Given the description of an element on the screen output the (x, y) to click on. 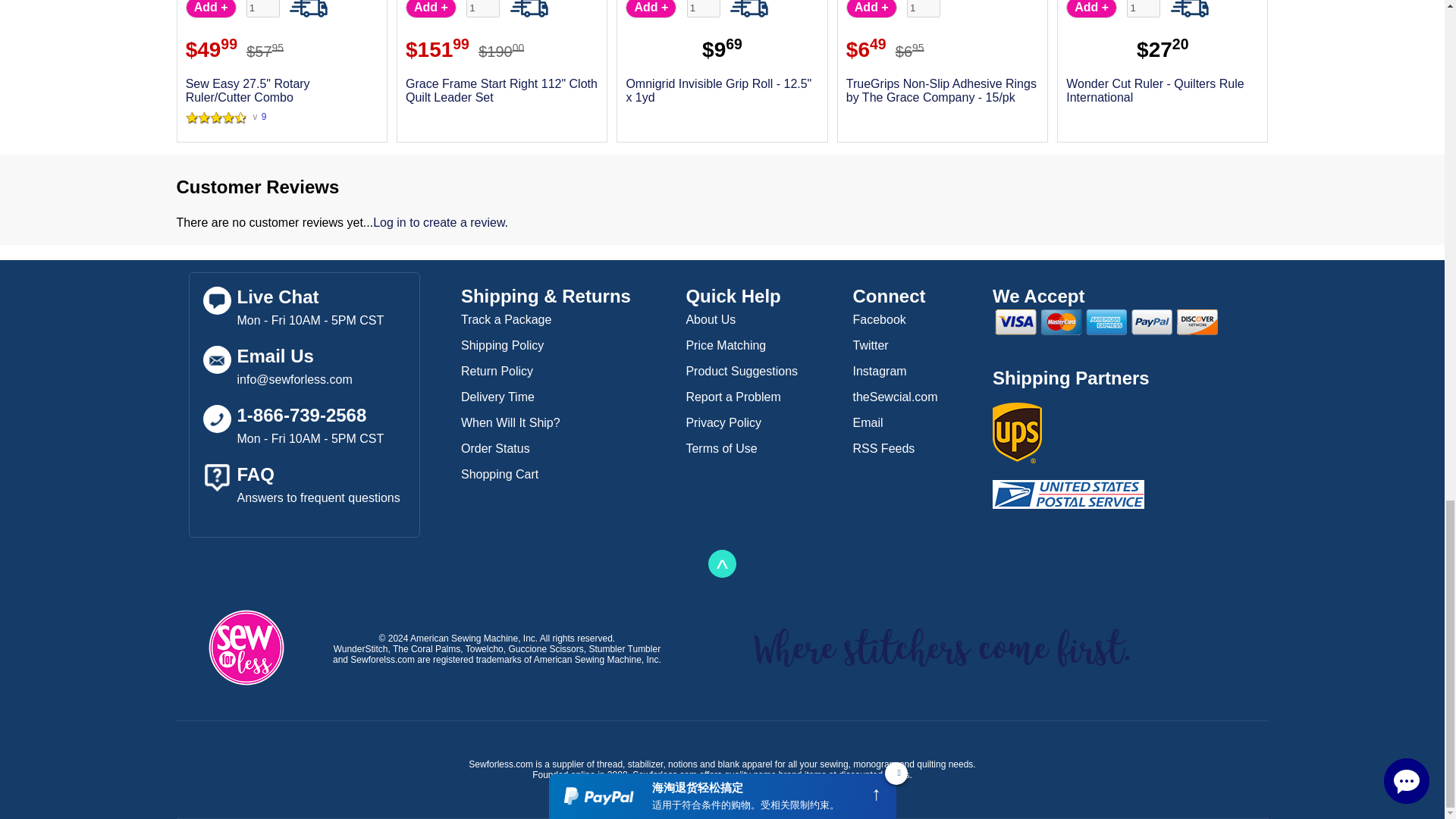
1 (923, 8)
This item qualifies for FREE Sew 'N Saver Shipping! (749, 8)
This item qualifies for FREE Sew 'N Saver Shipping! (529, 8)
1 (262, 8)
1 (1143, 8)
1 (482, 8)
1 (703, 8)
This item qualifies for FREE Sew 'N Saver Shipping! (308, 8)
This item qualifies for FREE Sew 'N Saver Shipping! (1189, 8)
